Given the description of an element on the screen output the (x, y) to click on. 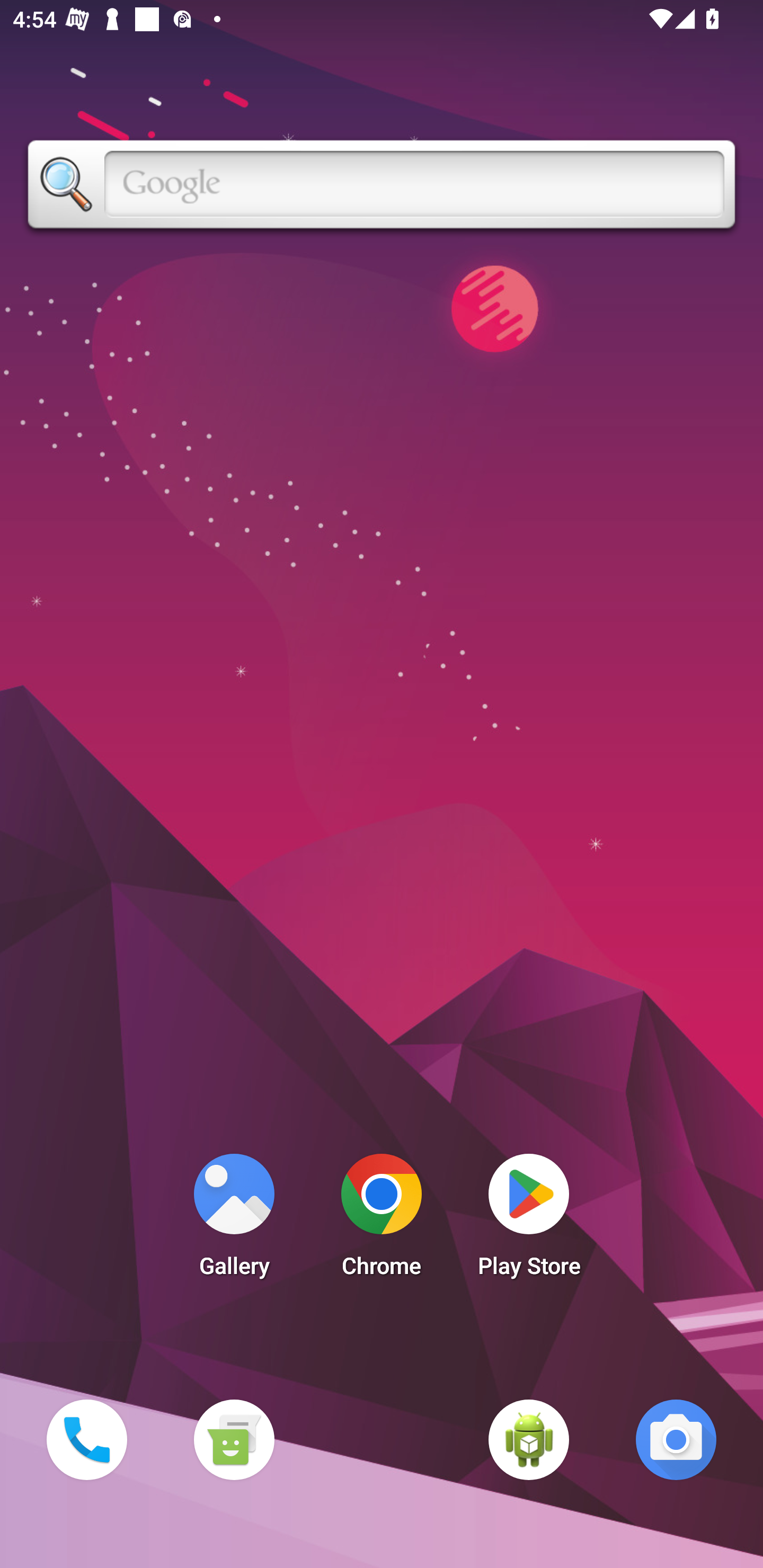
Gallery (233, 1220)
Chrome (381, 1220)
Play Store (528, 1220)
Phone (86, 1439)
Messaging (233, 1439)
WebView Browser Tester (528, 1439)
Camera (676, 1439)
